Given the description of an element on the screen output the (x, y) to click on. 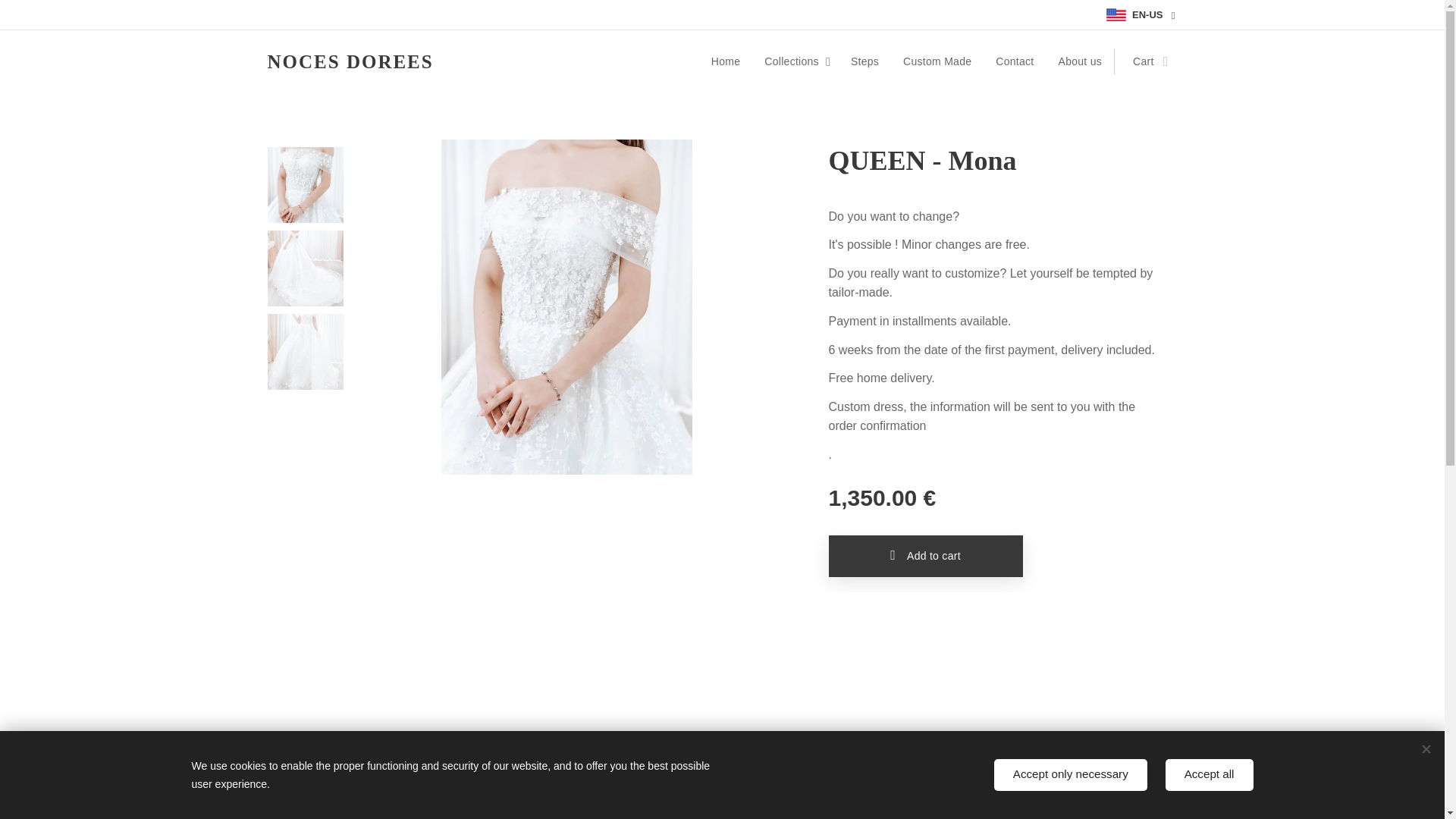
Custom Made (937, 61)
Cart (1144, 61)
Add to cart (925, 556)
Accept only necessary (1070, 774)
Steps (864, 61)
Collections (795, 61)
NOCES DOREES (350, 61)
Accept all (1209, 774)
Home (729, 61)
About us (1080, 61)
Contact (1014, 61)
